Given the description of an element on the screen output the (x, y) to click on. 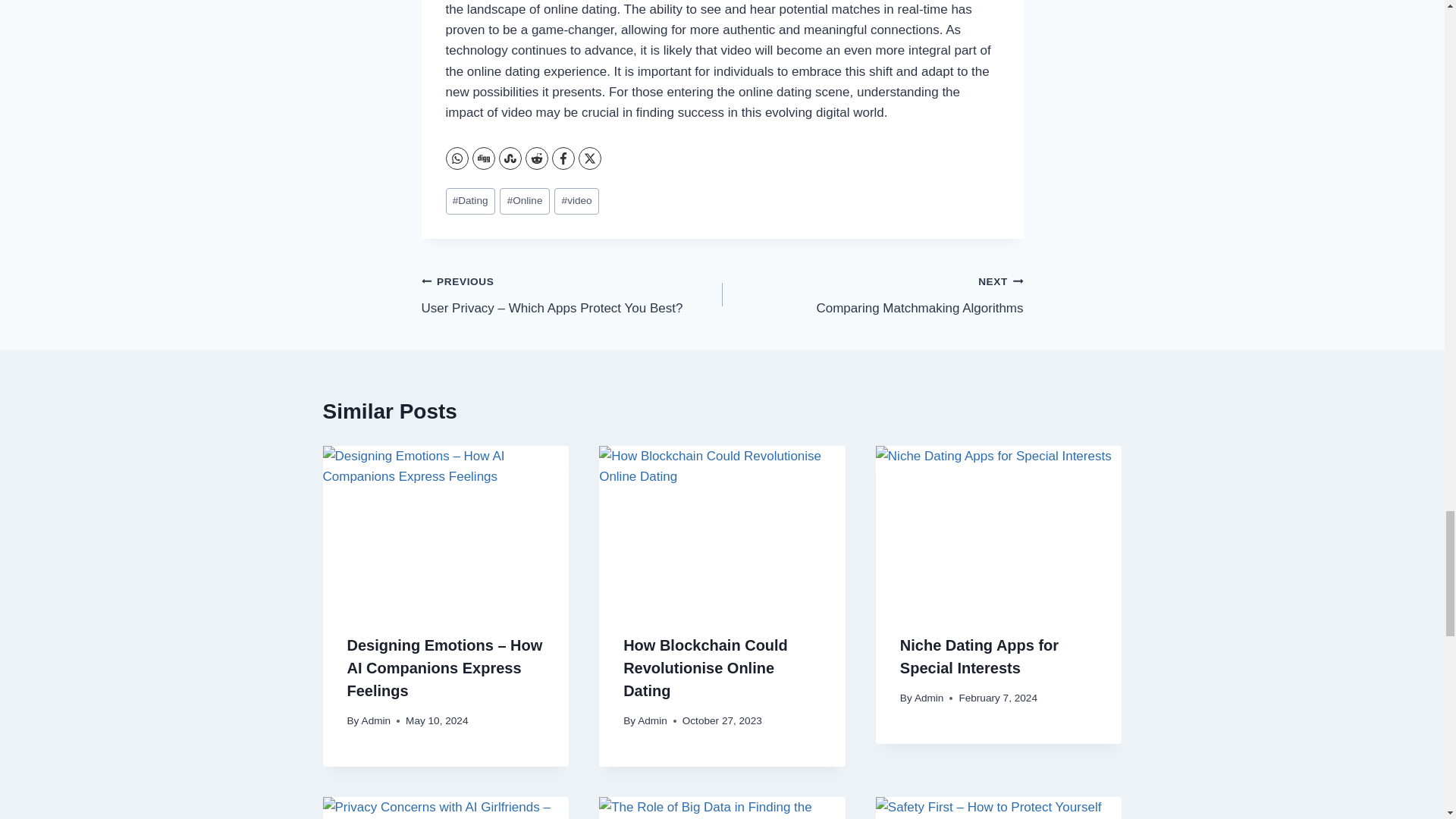
Dating (470, 201)
Online (872, 294)
video (523, 201)
